Given the description of an element on the screen output the (x, y) to click on. 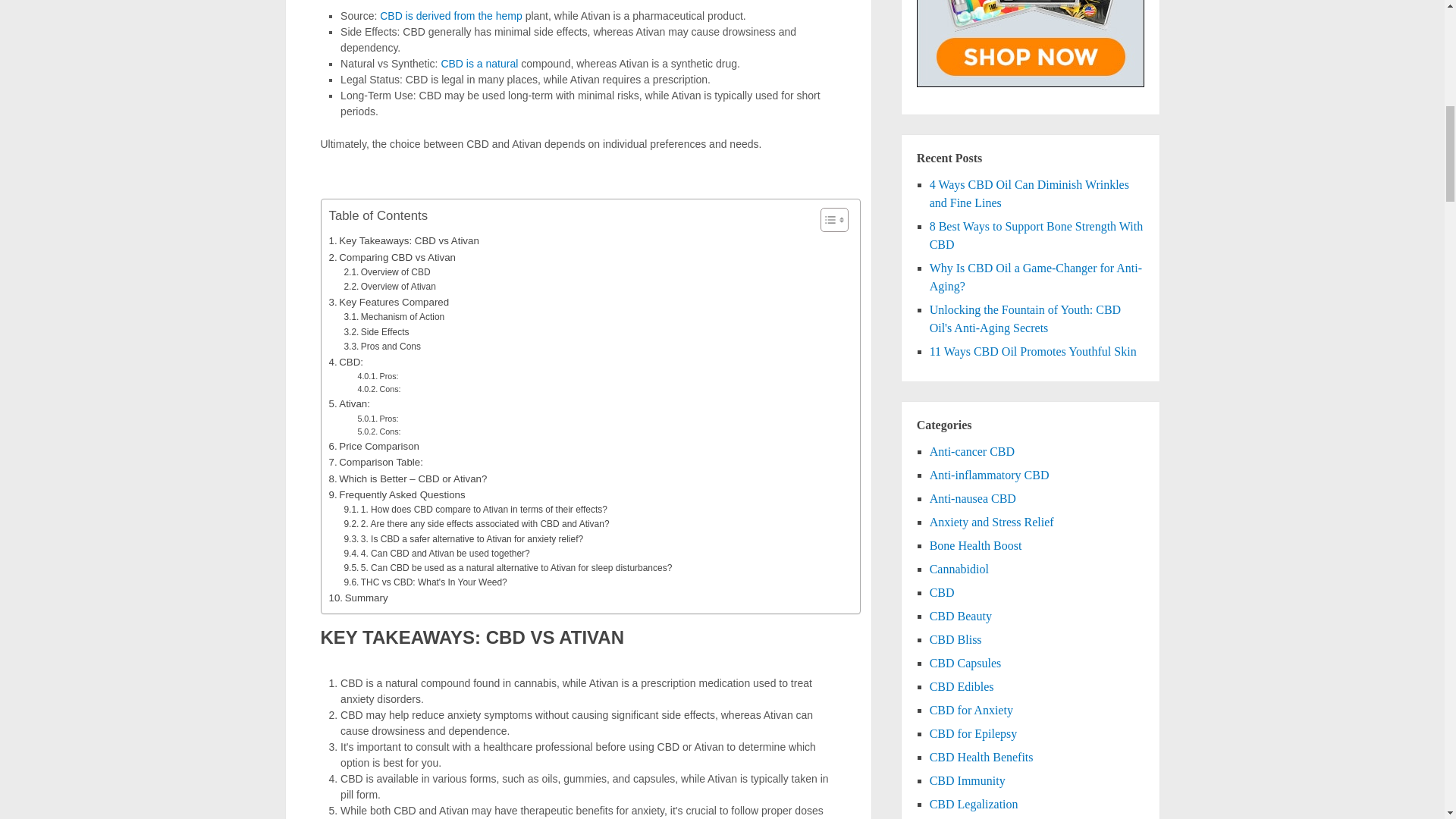
Key Takeaways: CBD vs Ativan (404, 240)
Overview of Ativan (389, 287)
Pros: (376, 376)
Side Effects (376, 331)
Cons: (378, 431)
Ativan: (349, 403)
CBD is derived from the hemp (451, 15)
Comparison Table: (376, 462)
4. Can CBD and Ativan be used together? (436, 554)
